Given the description of an element on the screen output the (x, y) to click on. 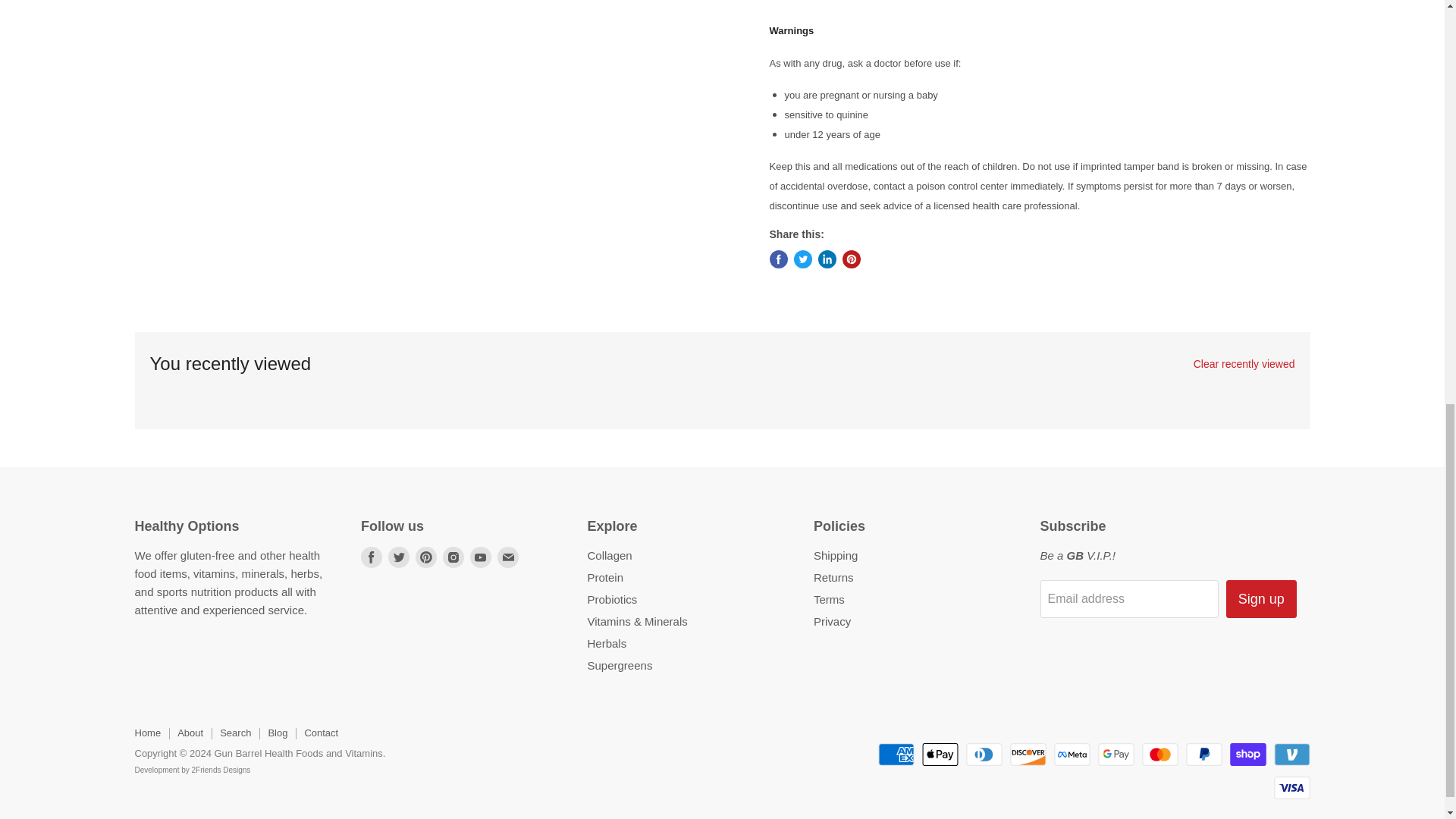
Pinterest (425, 557)
Youtube (481, 557)
Facebook (371, 557)
Email (507, 557)
Instagram (453, 557)
Twitter (398, 557)
